Given the description of an element on the screen output the (x, y) to click on. 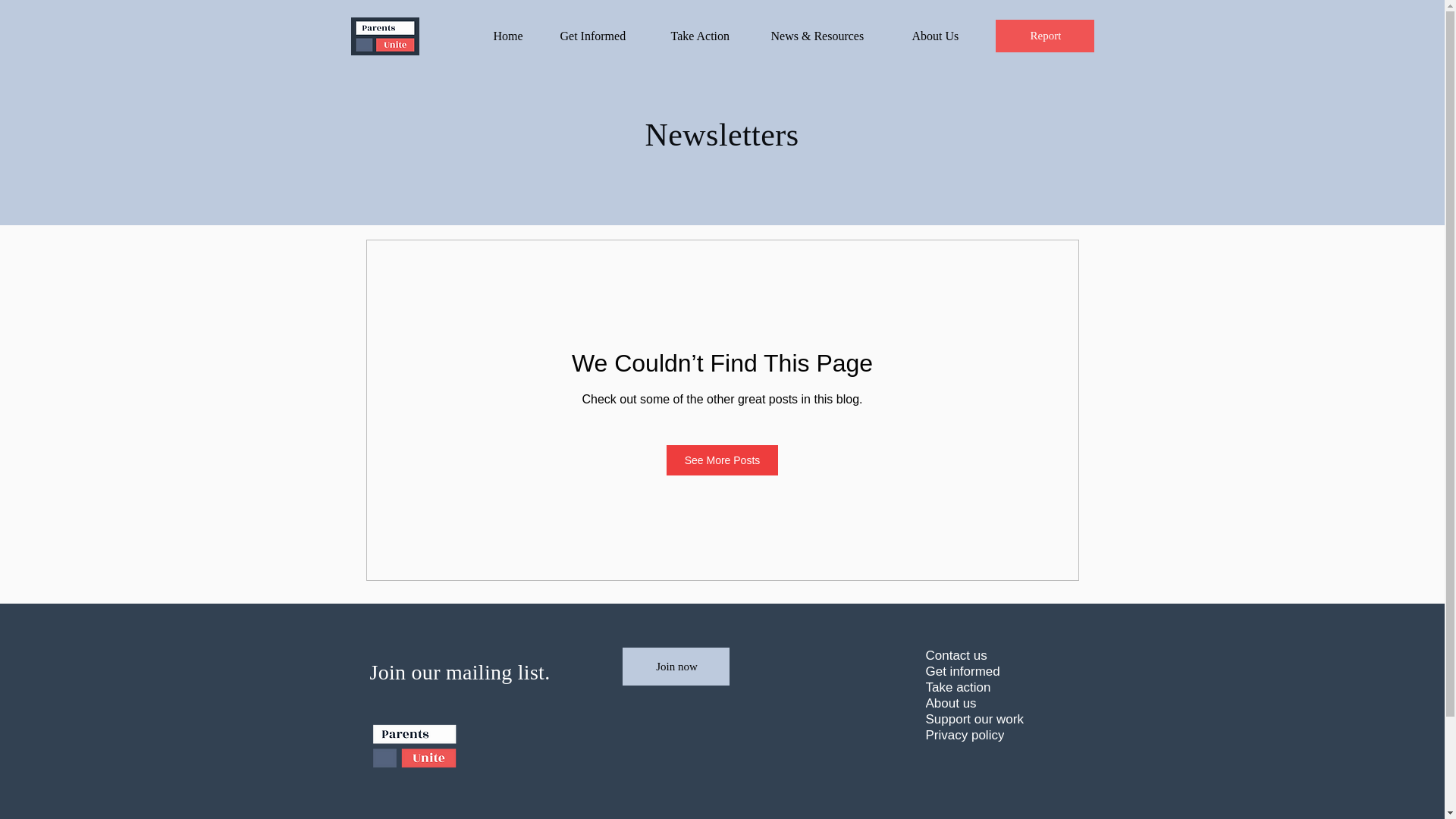
Contact us (989, 655)
See More Posts (722, 460)
Get informed (989, 671)
Join now (675, 666)
Home (514, 36)
Take Action (709, 36)
Support our work (989, 719)
Take action (989, 687)
About us (989, 703)
Privacy policy (989, 734)
